Given the description of an element on the screen output the (x, y) to click on. 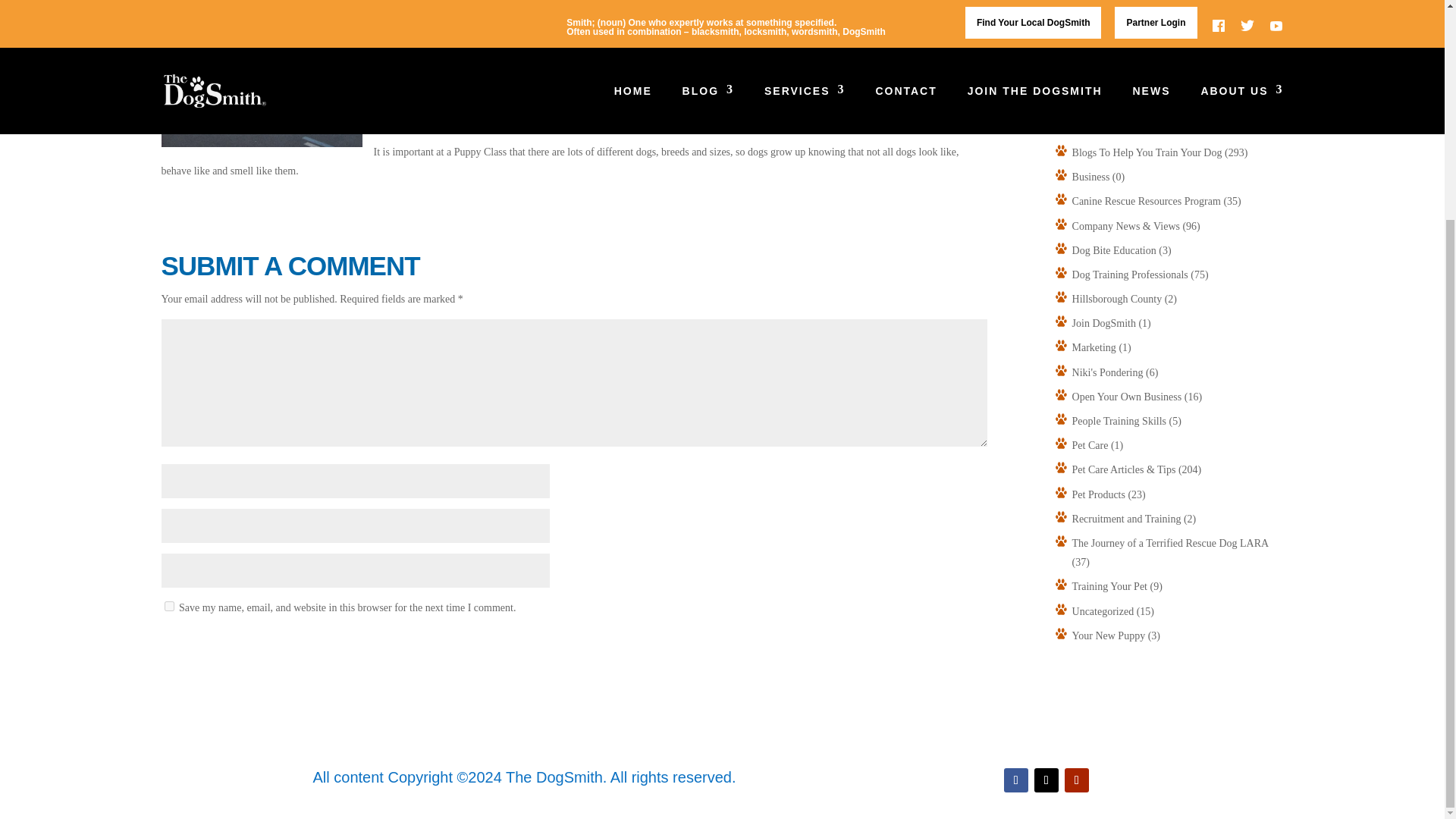
Submit Comment (236, 648)
Follow on Youtube (1076, 780)
yes (168, 605)
Follow on Facebook (1015, 780)
Follow on X (1045, 780)
